Given the description of an element on the screen output the (x, y) to click on. 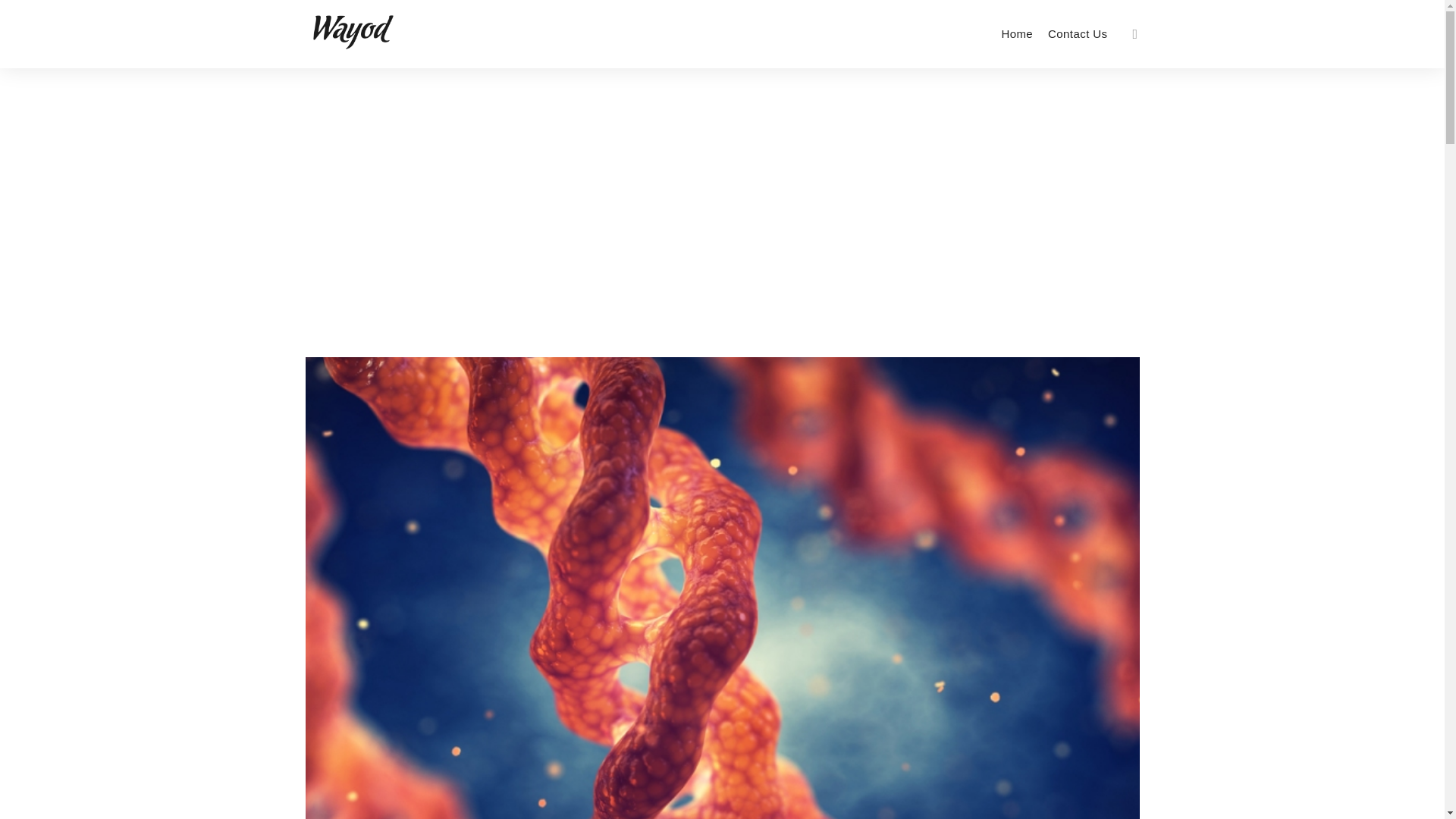
Contact Us (1078, 33)
Home (1016, 33)
Contact Us (1078, 33)
Home (1016, 33)
